Given the description of an element on the screen output the (x, y) to click on. 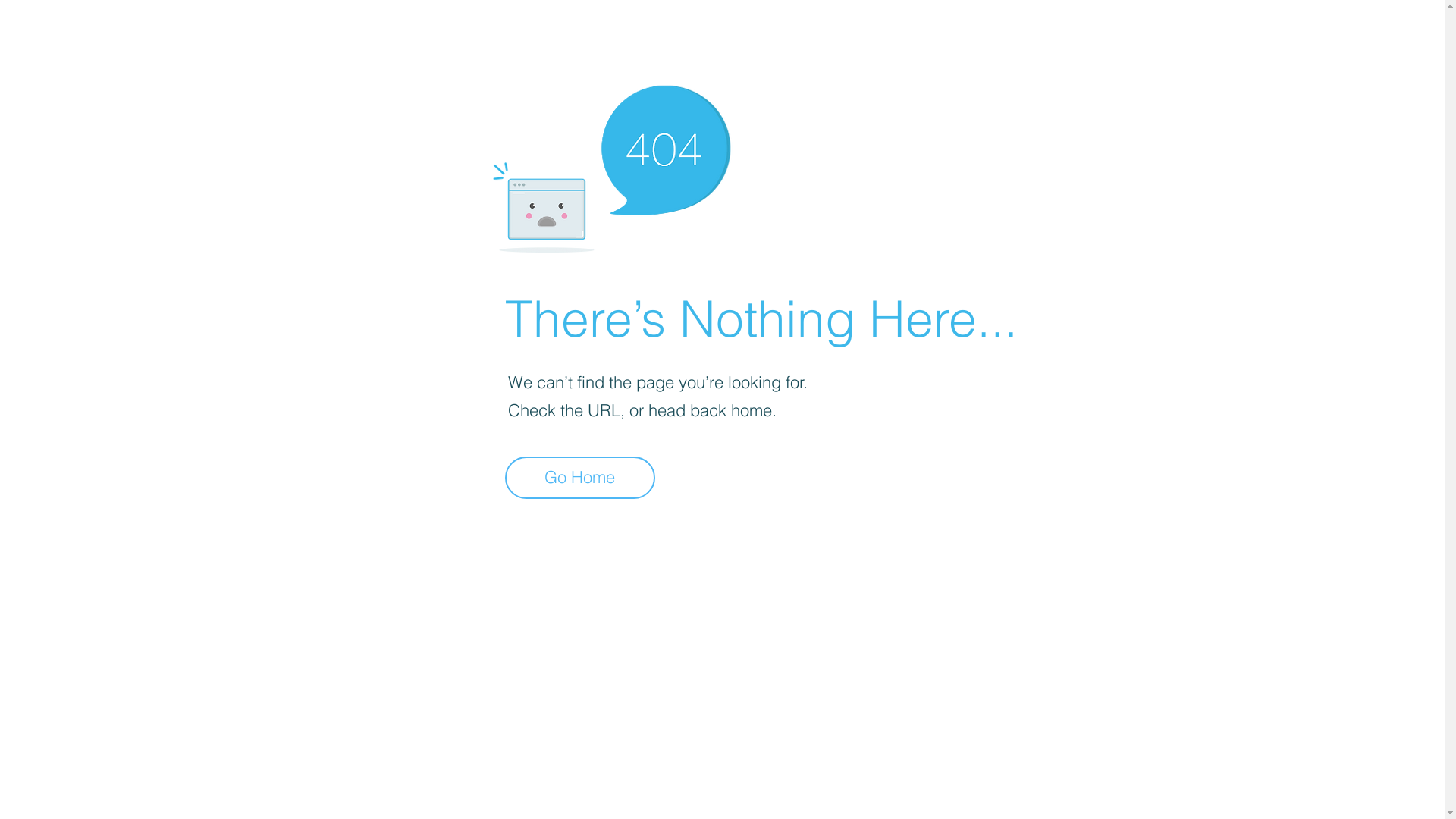
Go Home Element type: text (580, 477)
404-icon_2.png Element type: hover (610, 164)
